Given the description of an element on the screen output the (x, y) to click on. 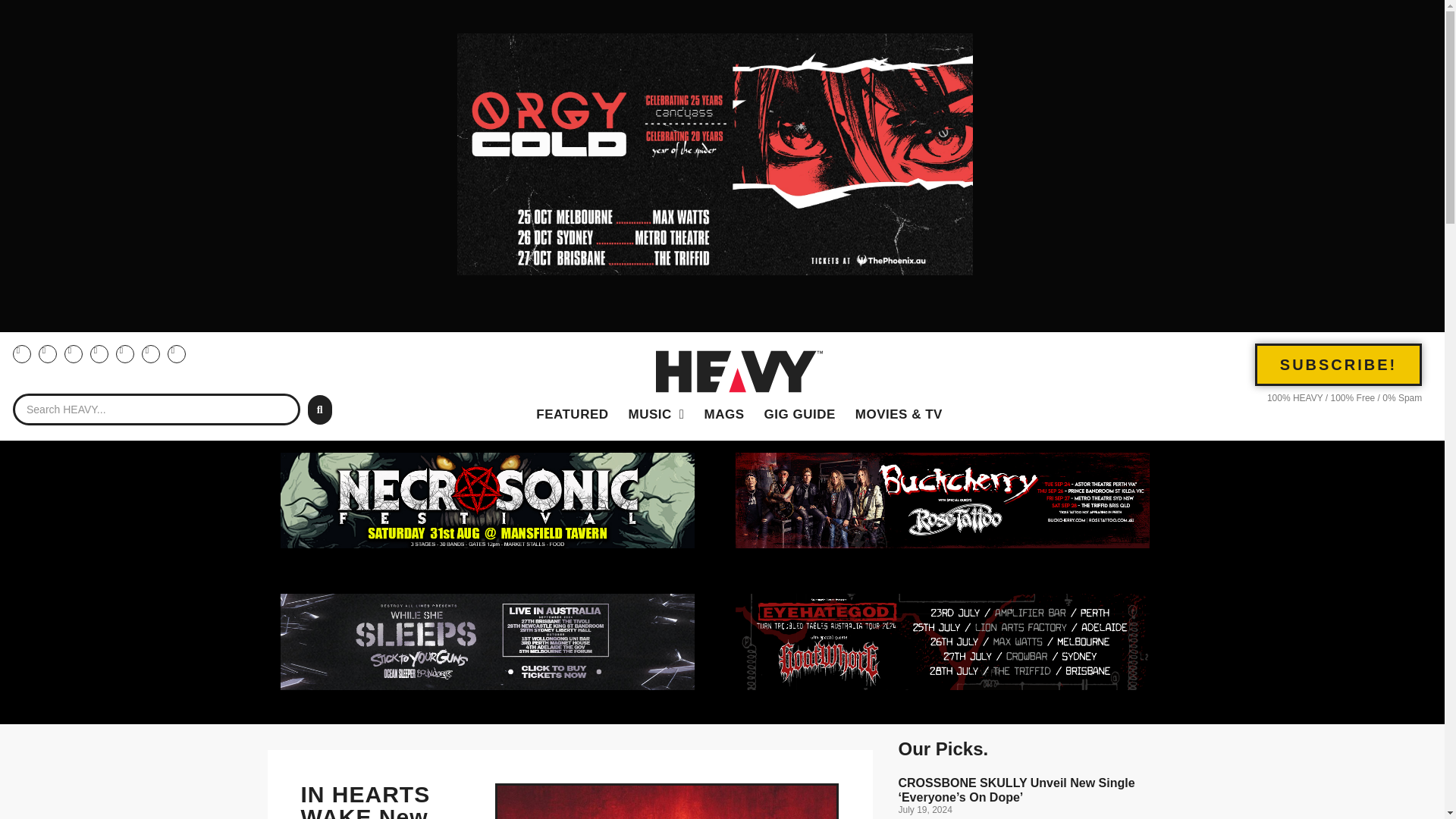
SUBSCRIBE! (1338, 364)
GIG GUIDE (799, 414)
MUSIC (656, 414)
Heavy Music (656, 414)
MAGS (724, 414)
FEATURED (571, 414)
